Given the description of an element on the screen output the (x, y) to click on. 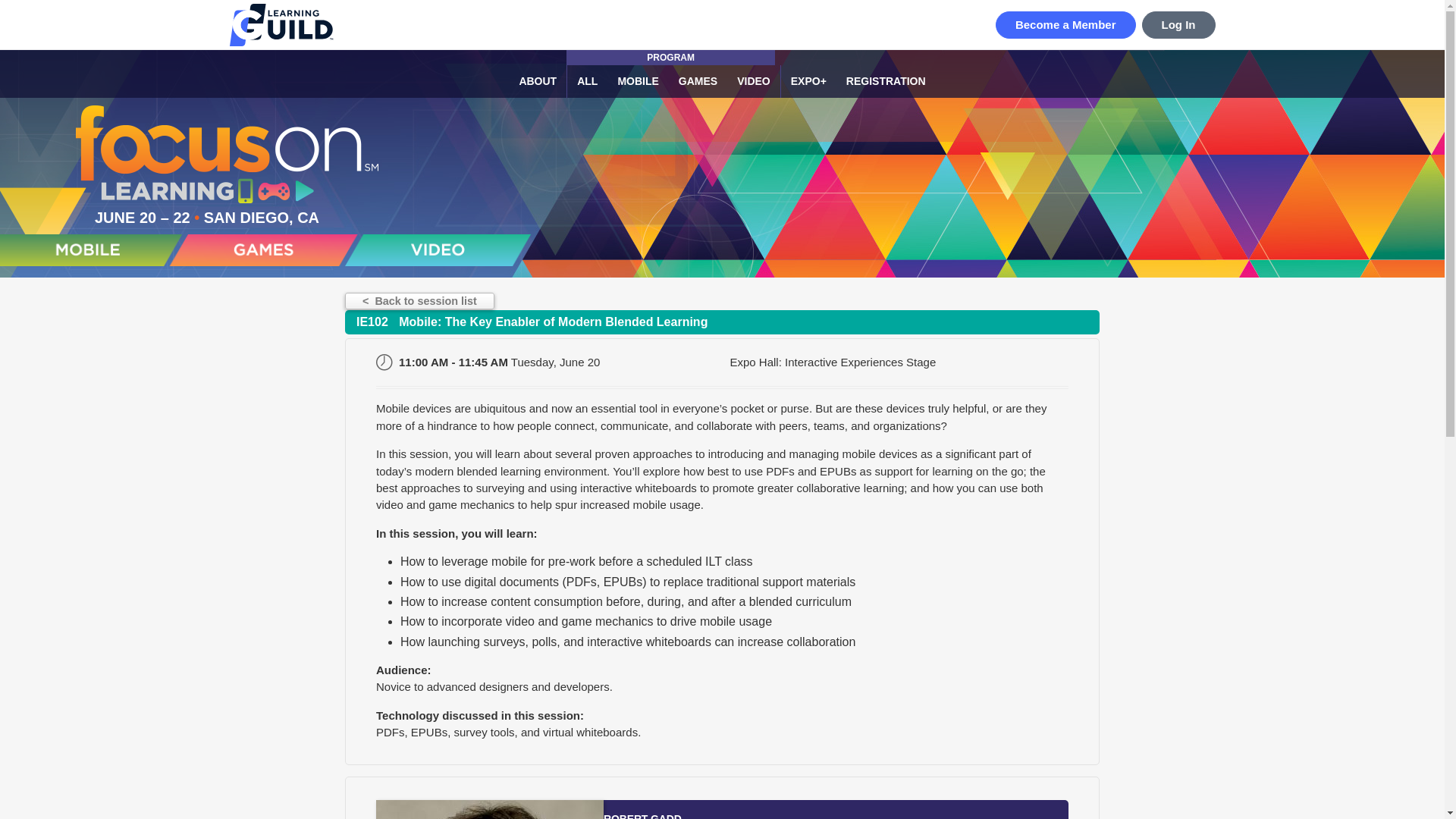
ALL (586, 81)
Log In (1178, 24)
Become a Member (1065, 24)
ABOUT (537, 81)
